Given the description of an element on the screen output the (x, y) to click on. 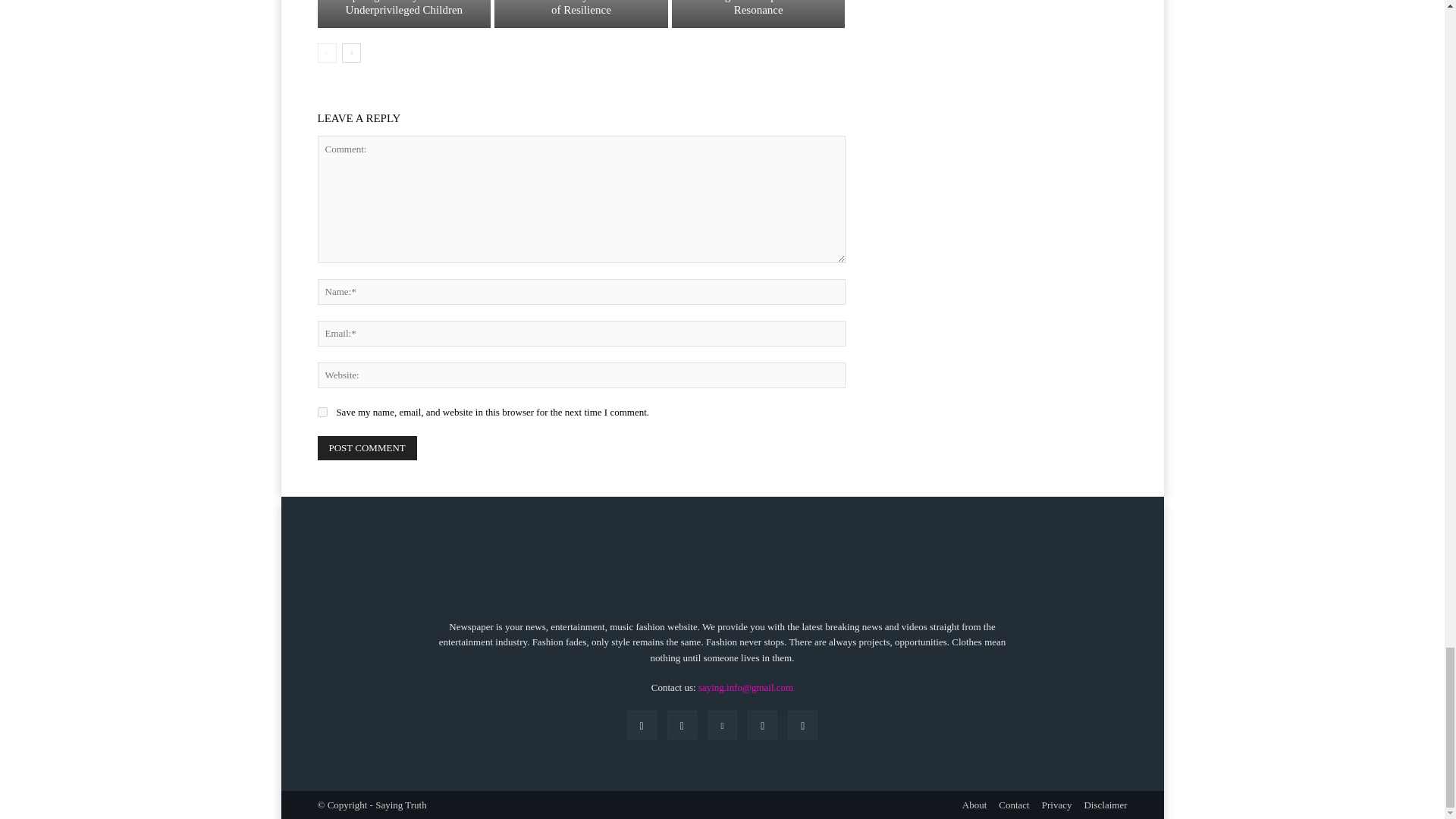
yes (321, 411)
Post Comment (366, 447)
